Given the description of an element on the screen output the (x, y) to click on. 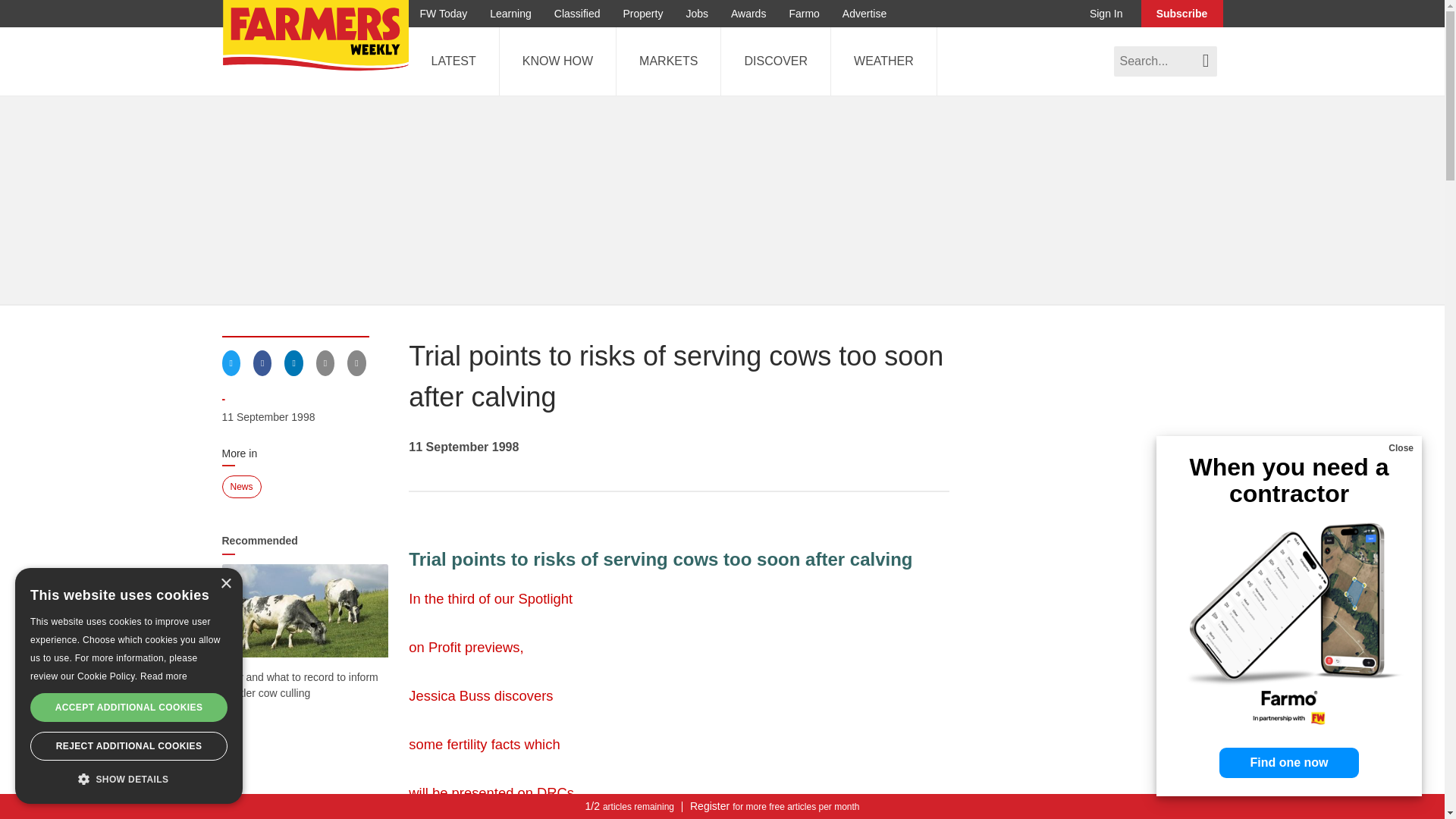
3rd party ad content (1108, 569)
